Given the description of an element on the screen output the (x, y) to click on. 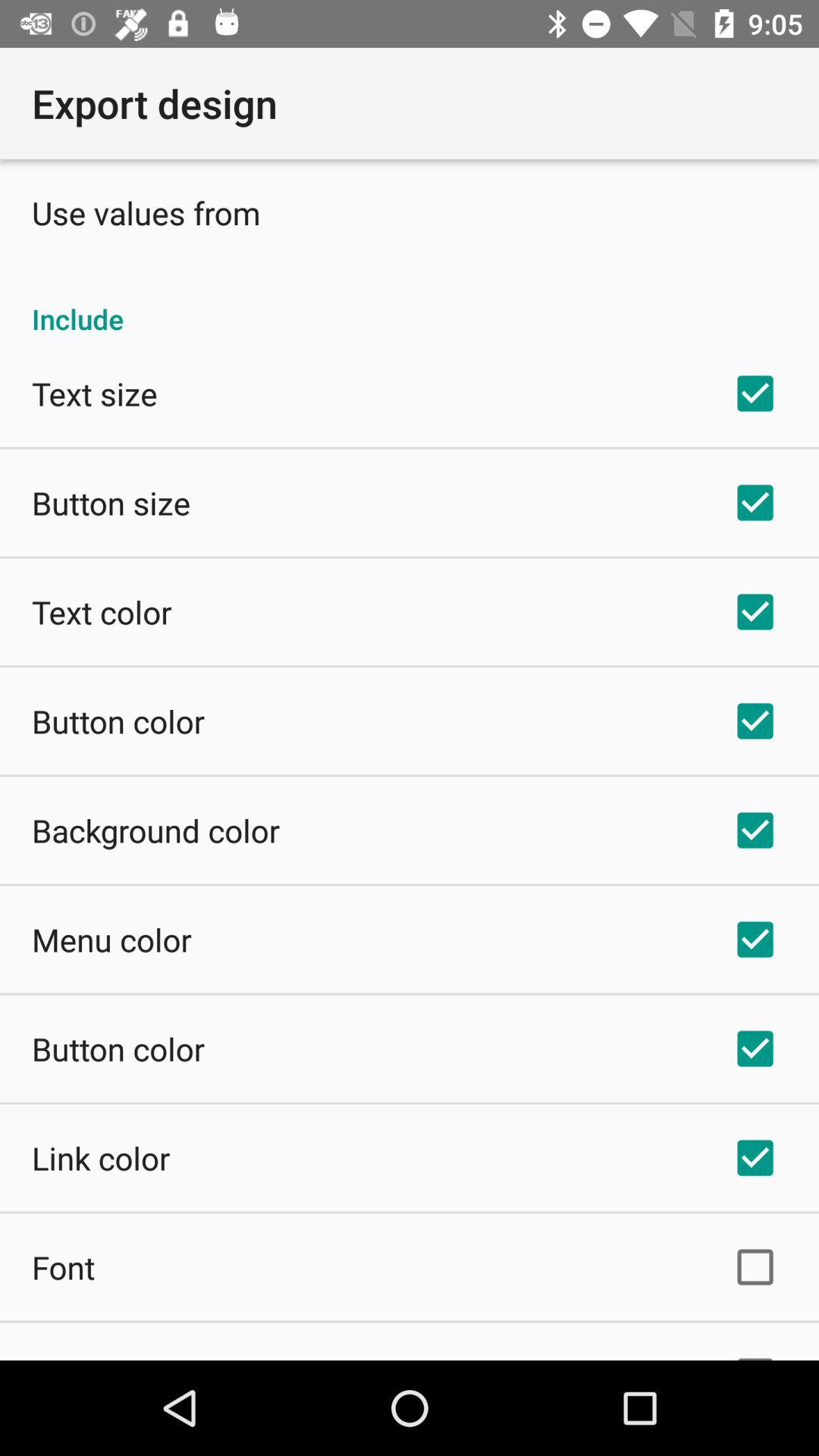
open item above button color item (111, 939)
